Given the description of an element on the screen output the (x, y) to click on. 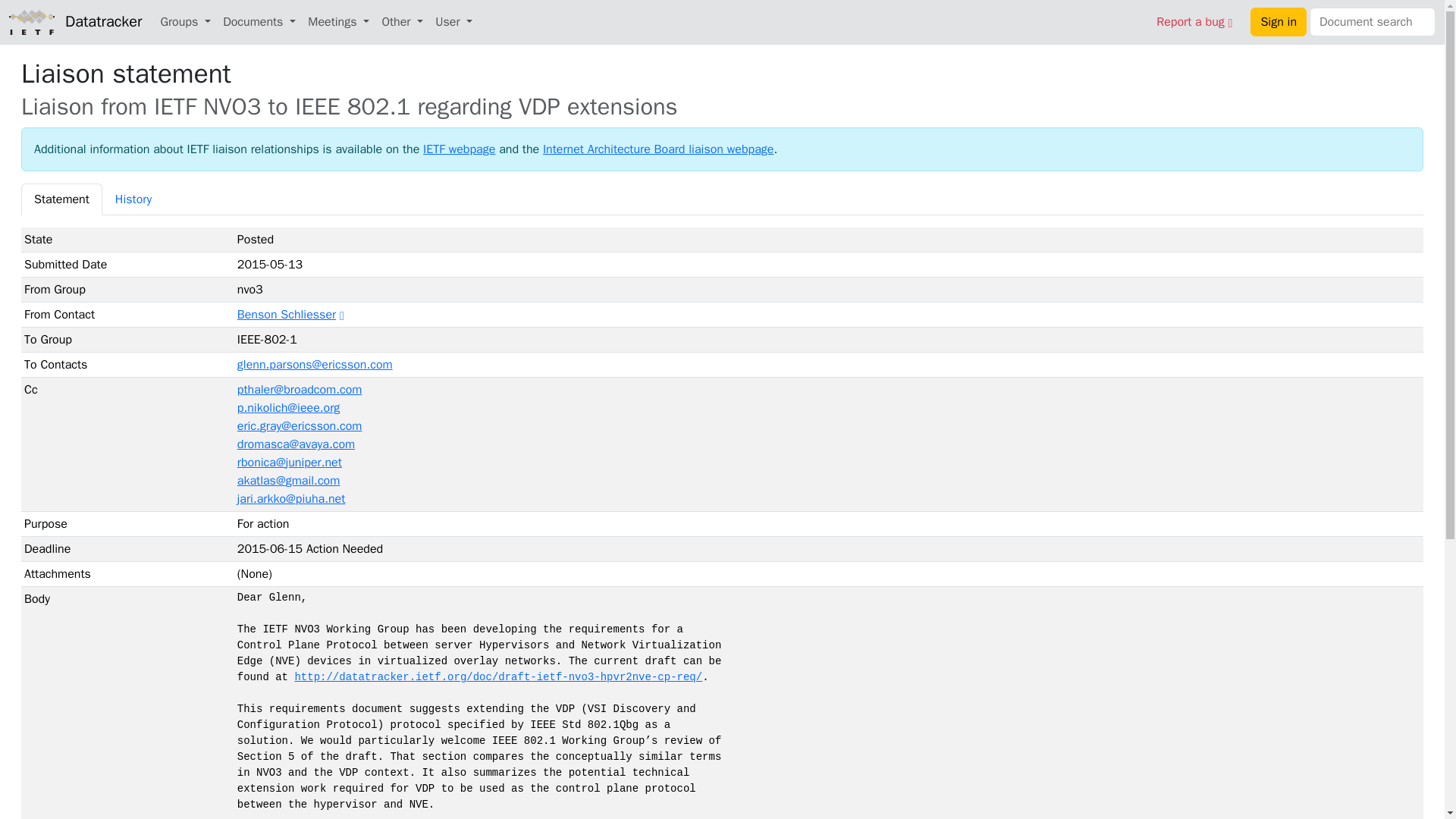
Groups (185, 21)
Datatracker (74, 21)
